Given the description of an element on the screen output the (x, y) to click on. 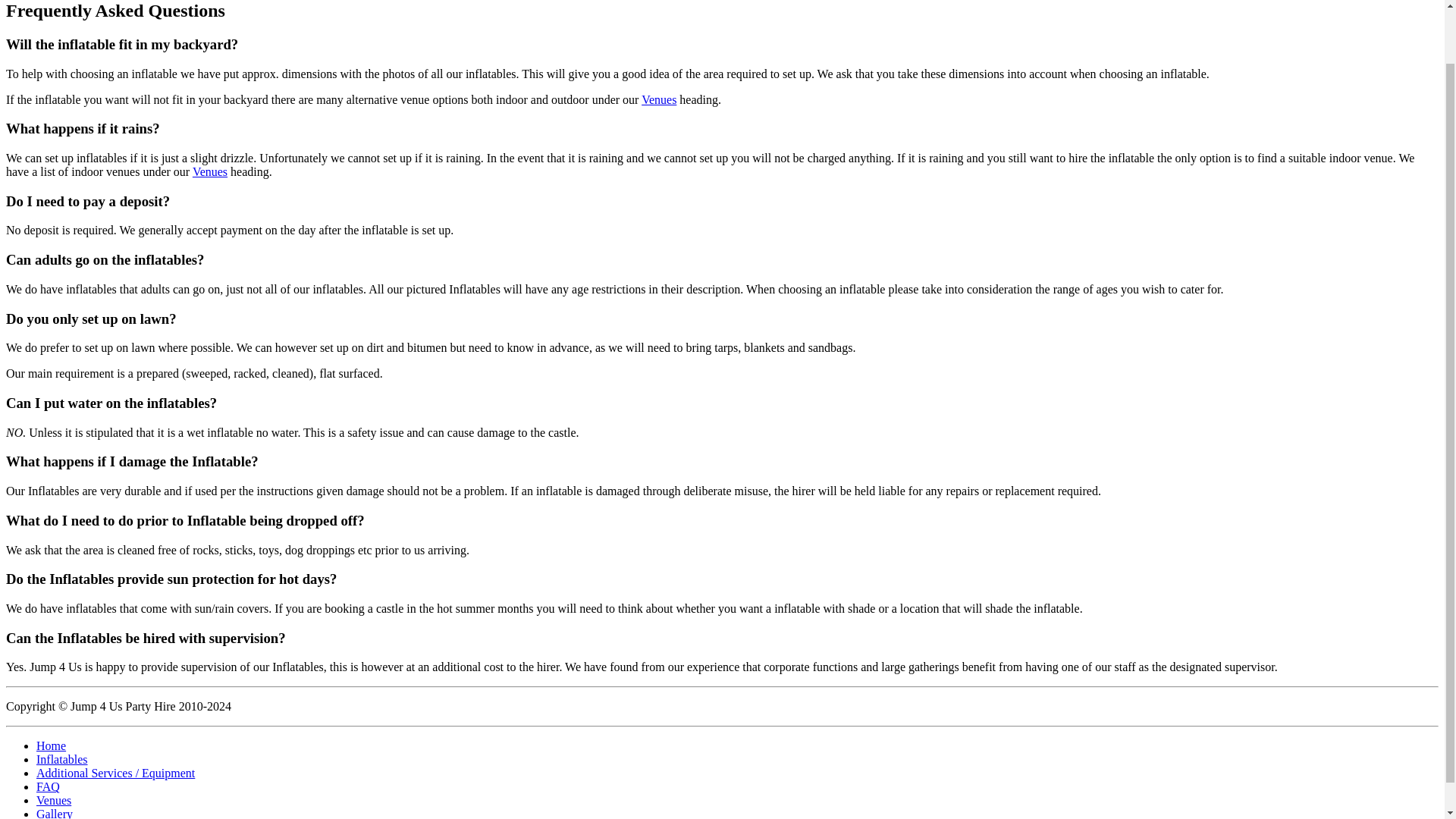
Venues (209, 171)
Venues (659, 99)
Venues (53, 799)
FAQ (47, 786)
Inflatables (61, 758)
Home (50, 745)
